Given the description of an element on the screen output the (x, y) to click on. 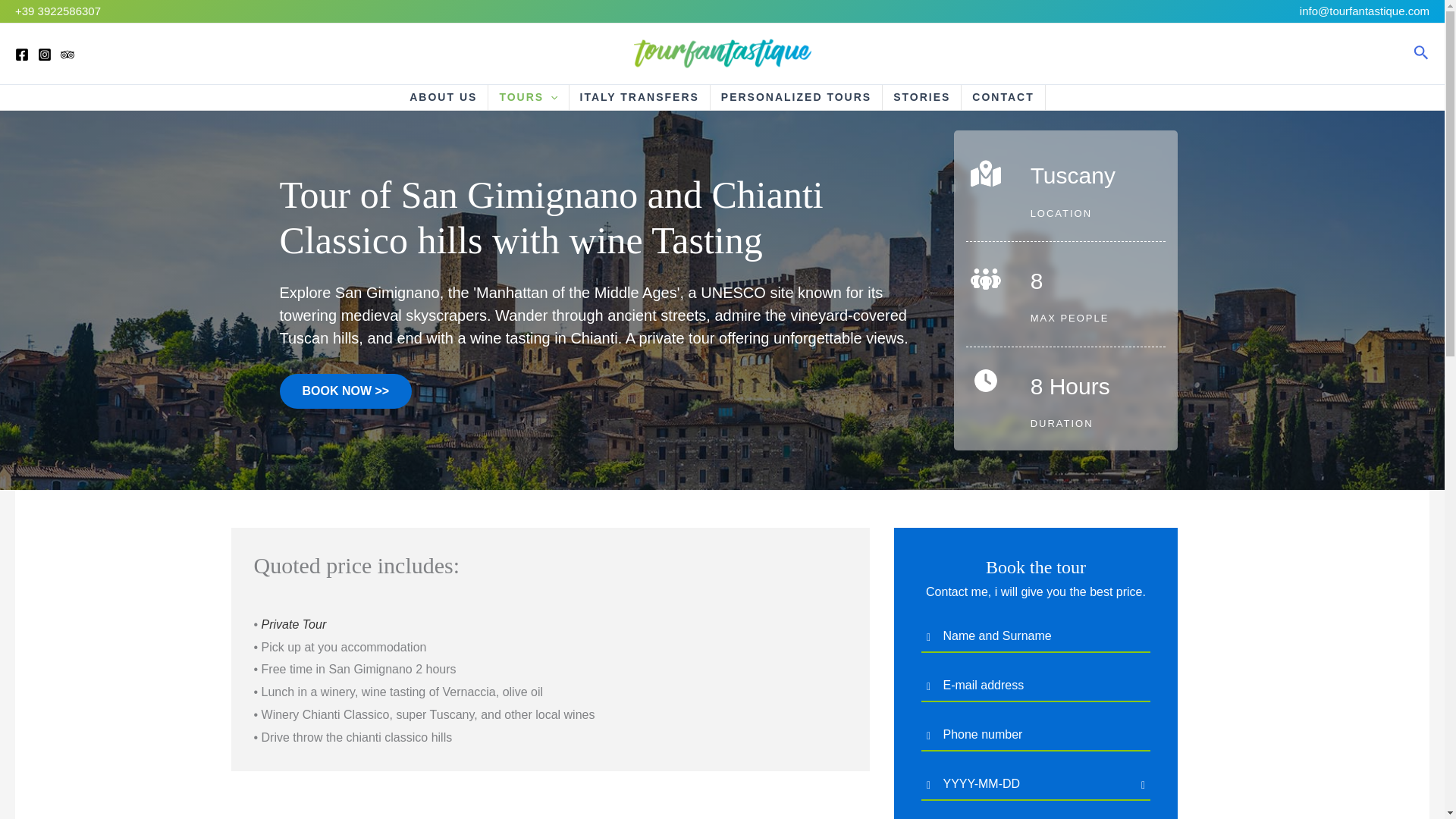
PERSONALIZED TOURS (796, 97)
CONTACT (1001, 97)
ITALY TRANSFERS (639, 97)
STORIES (921, 97)
ABOUT US (442, 97)
TOURS (527, 97)
